Given the description of an element on the screen output the (x, y) to click on. 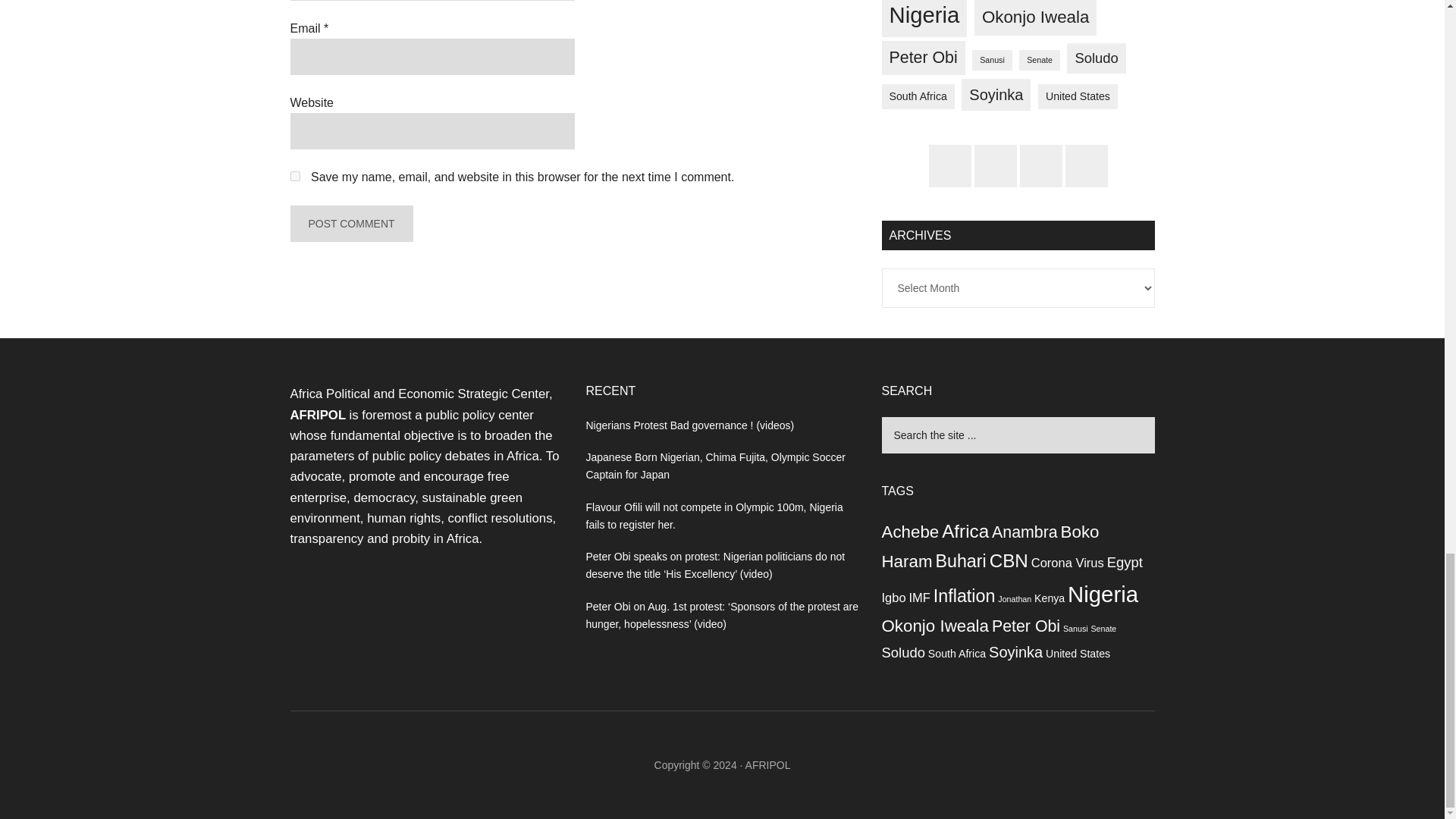
Post Comment (350, 223)
yes (294, 175)
Post Comment (350, 223)
